Given the description of an element on the screen output the (x, y) to click on. 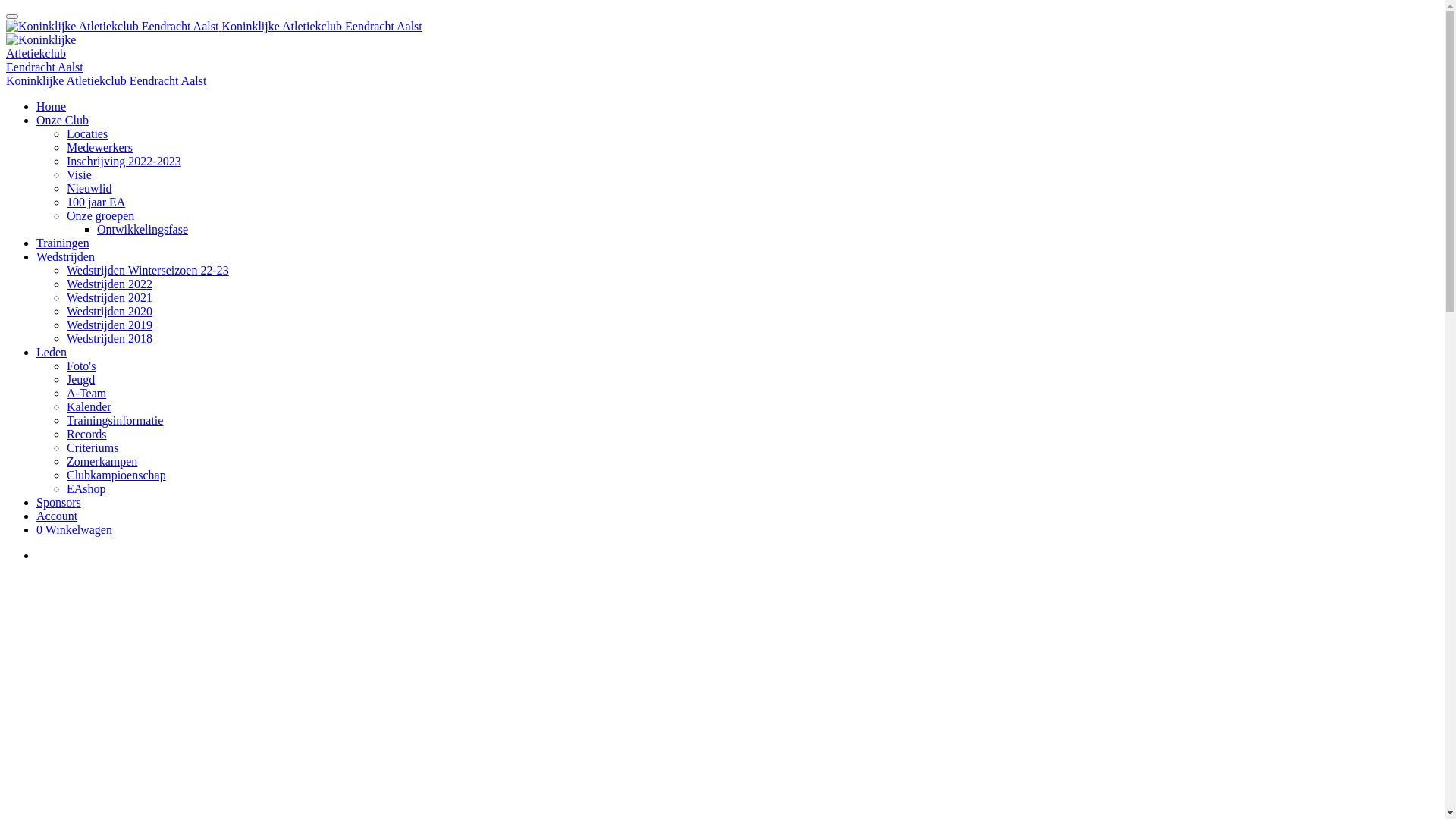
Wedstrijden 2020 Element type: text (109, 310)
Onze Club Element type: text (62, 119)
Criteriums Element type: text (92, 447)
Zomerkampen Element type: text (101, 461)
Clubkampioenschap Element type: text (116, 474)
Wedstrijden Winterseizoen 22-23 Element type: text (147, 269)
Wedstrijden 2022 Element type: text (109, 283)
EAshop Element type: text (86, 488)
Leden Element type: text (51, 351)
Wedstrijden Element type: text (65, 256)
Home Element type: text (50, 106)
Koninklijke Atletiekclub Eendracht Aalst Element type: hover (48, 53)
Trainingen Element type: text (62, 242)
Kalender Element type: text (88, 406)
Medewerkers Element type: text (99, 147)
Koninklijke Atletiekclub Eendracht Aalst Element type: text (214, 25)
Visie Element type: text (78, 174)
Records Element type: text (86, 433)
Foto's Element type: text (80, 365)
Trainingsinformatie Element type: text (114, 420)
Sponsors Element type: text (58, 501)
0 Winkelwagen Element type: text (74, 529)
Wedstrijden 2019 Element type: text (109, 324)
Koninklijke Atletiekclub Eendracht Aalst Element type: hover (112, 26)
Locaties Element type: text (86, 133)
100 jaar EA Element type: text (95, 201)
Onze groepen Element type: text (100, 215)
Account Element type: text (56, 515)
Wedstrijden 2021 Element type: text (109, 297)
Jeugd Element type: text (80, 379)
A-Team Element type: text (86, 392)
Nieuwlid Element type: text (89, 188)
Inschrijving 2022-2023 Element type: text (123, 160)
Koninklijke Atletiekclub Eendracht Aalst Element type: text (106, 80)
Ontwikkelingsfase Element type: text (142, 228)
Wedstrijden 2018 Element type: text (109, 338)
